Given the description of an element on the screen output the (x, y) to click on. 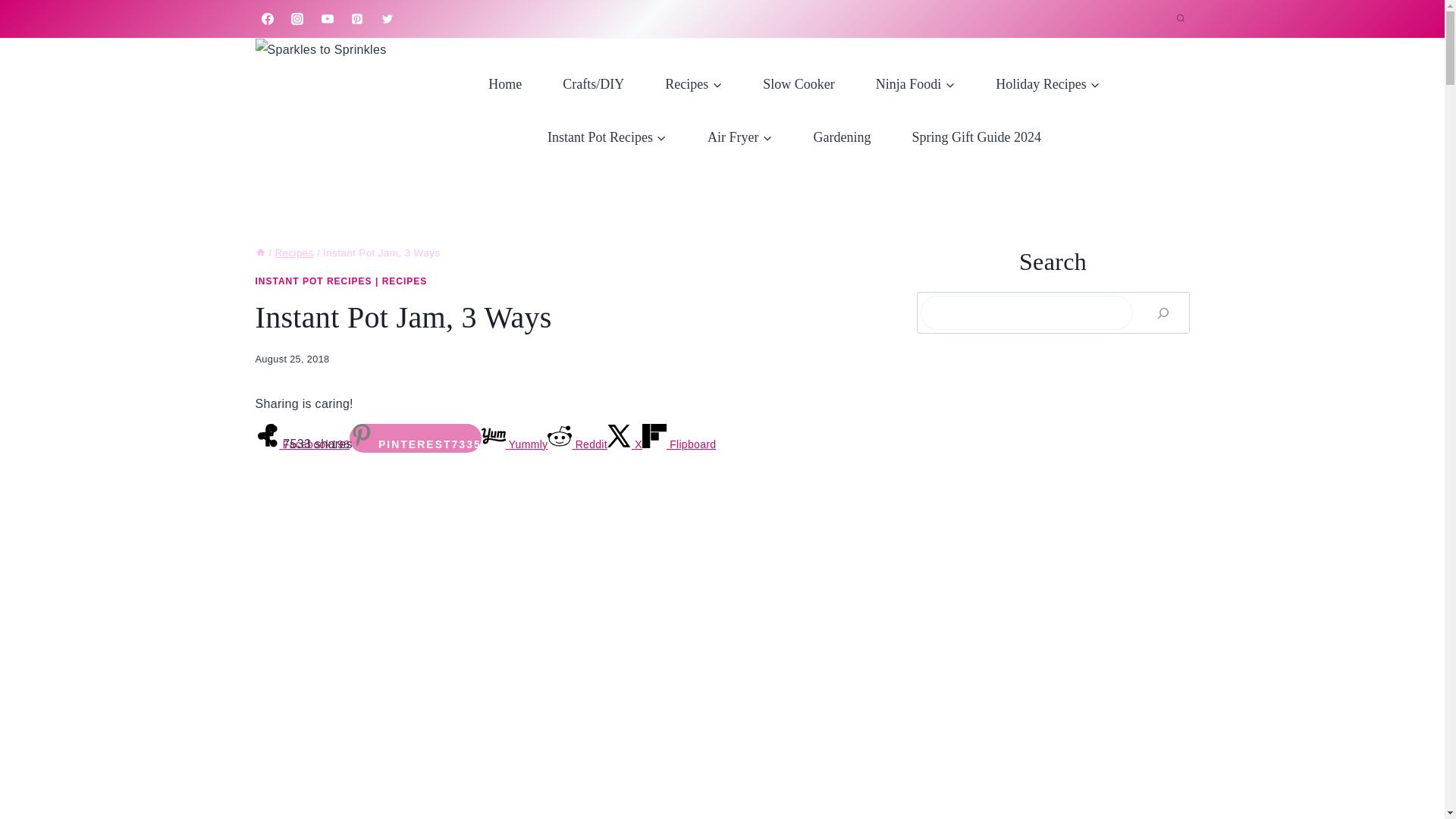
Share on Facebook (301, 444)
Ninja Foodi (915, 83)
Share on X (624, 444)
Air Fryer (739, 136)
Gardening (841, 136)
Share on Flipboard (679, 444)
Share on Yummly (514, 444)
Instant Pot Recipes (607, 136)
Slow Cooker (799, 83)
Share on Reddit (577, 444)
Spring Gift Guide 2024 (976, 136)
Save to Pinterest (415, 438)
Holiday Recipes (1047, 83)
Home (504, 83)
Recipes (693, 83)
